Given the description of an element on the screen output the (x, y) to click on. 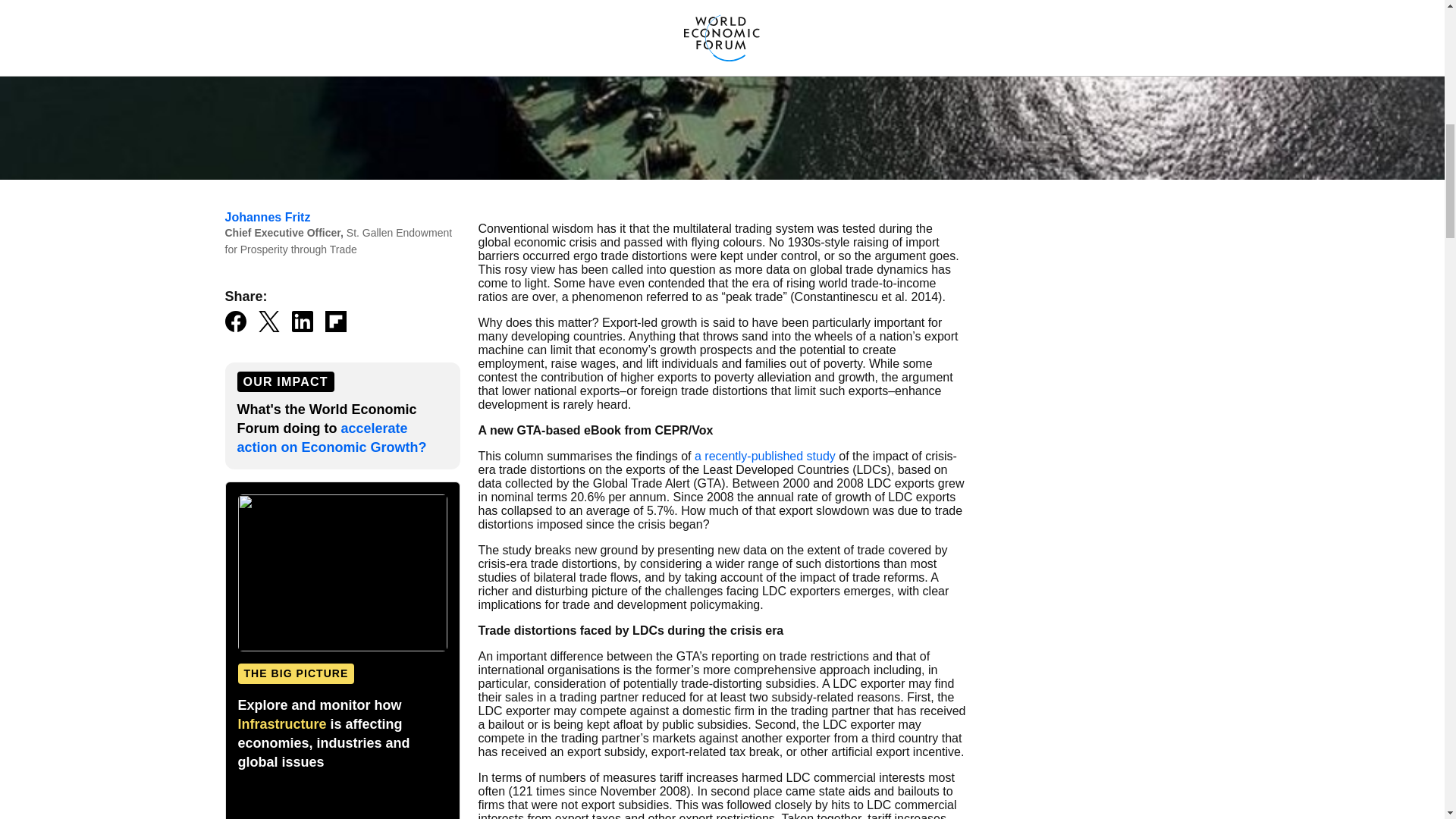
Johannes Fritz (267, 216)
a recently-published study (764, 455)
